Given the description of an element on the screen output the (x, y) to click on. 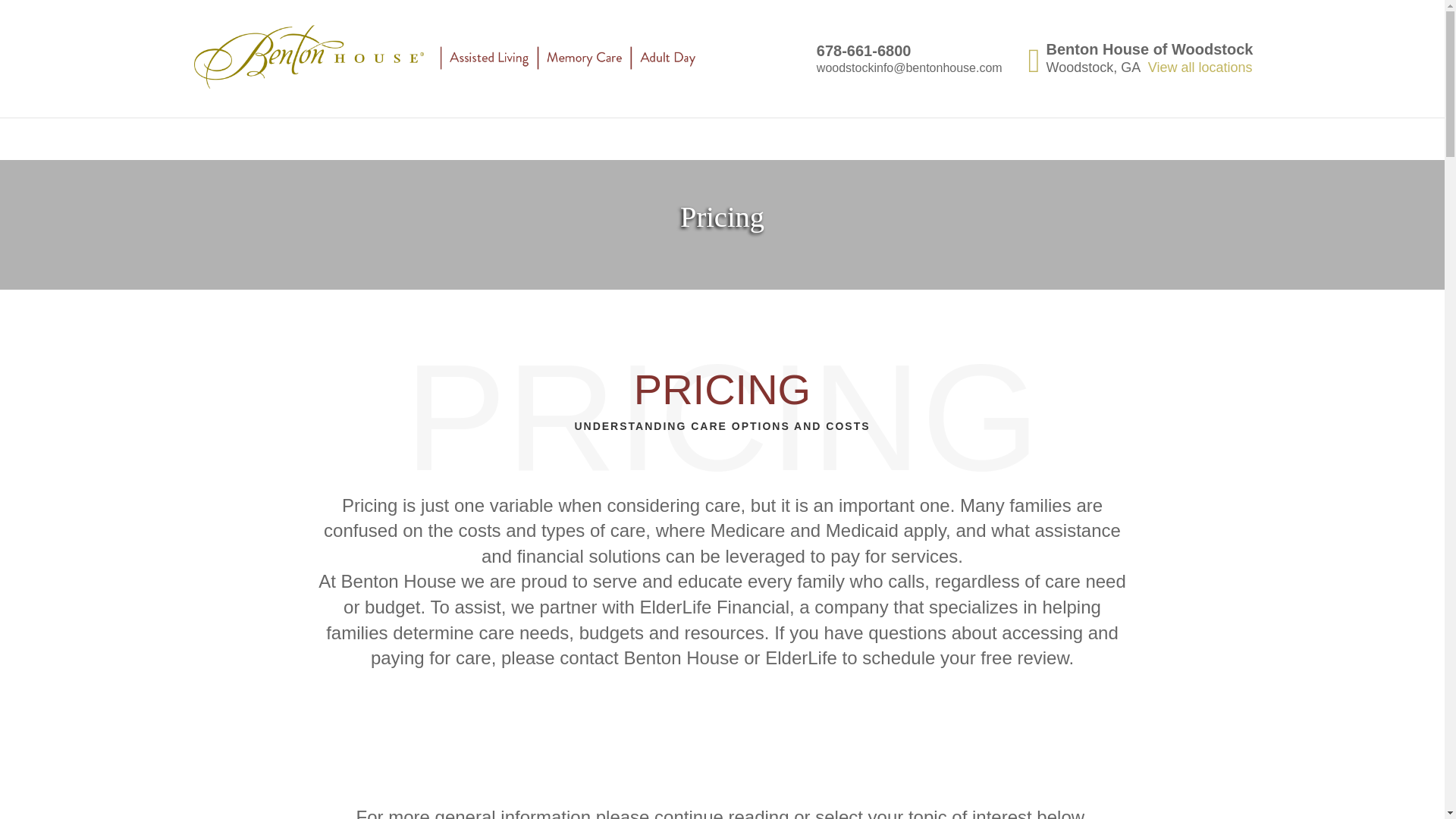
Benton House of Woodstock (1149, 48)
Woodstock, GA (1093, 67)
678-661-6800 (863, 50)
View all locations (1200, 67)
